Given the description of an element on the screen output the (x, y) to click on. 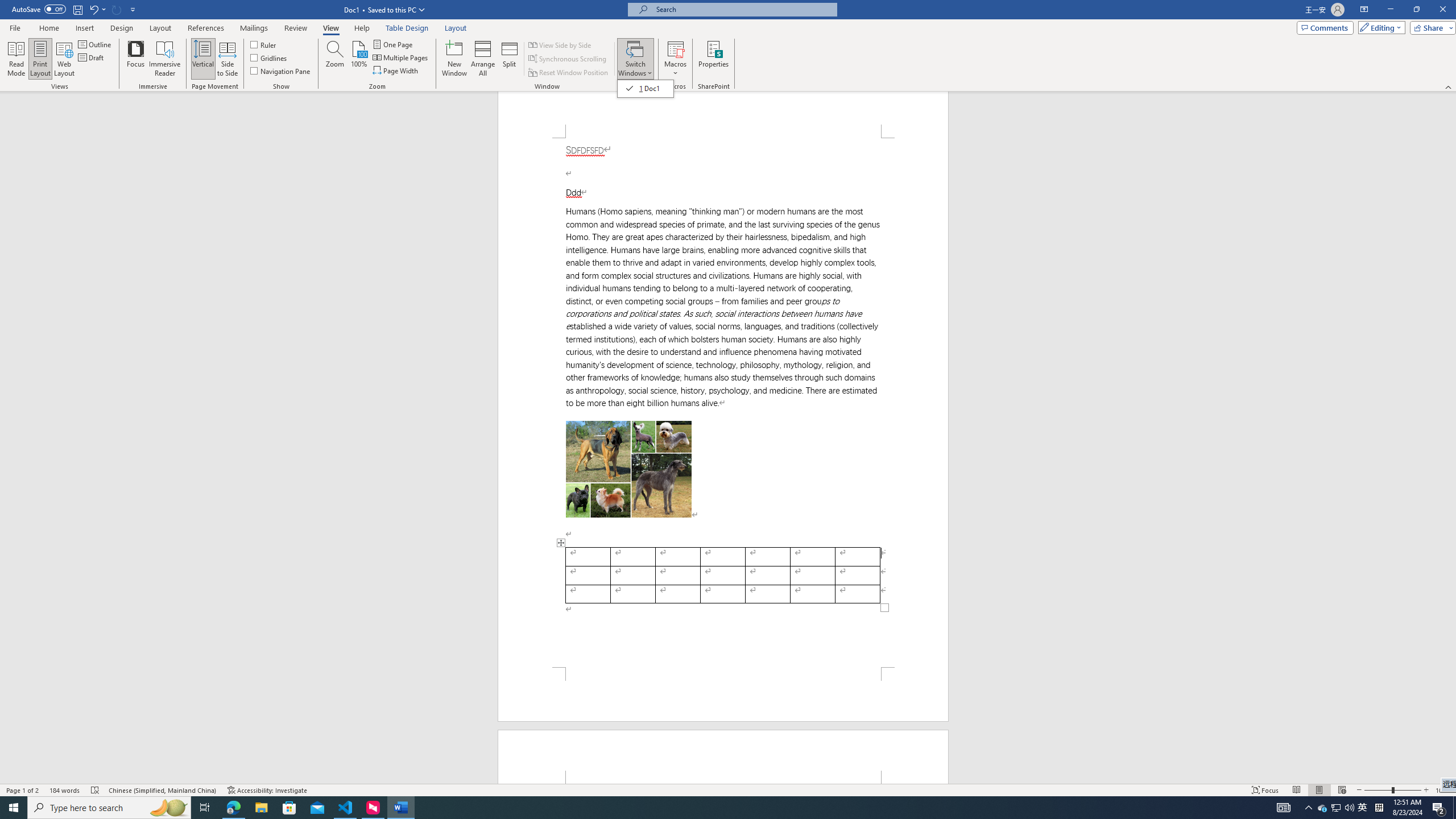
User Promoted Notification Area (1336, 807)
Outline (95, 44)
Notification Chevron (1308, 807)
Focus (1335, 807)
Microsoft search (135, 58)
Read Mode (742, 9)
Zoom 100% (16, 58)
Word Count 184 words (1443, 790)
Morphological variation in six dogs (64, 790)
Accessibility Checker Accessibility: Investigate (628, 468)
Draft (266, 790)
Q2790: 100% (91, 56)
Design (1349, 807)
